Given the description of an element on the screen output the (x, y) to click on. 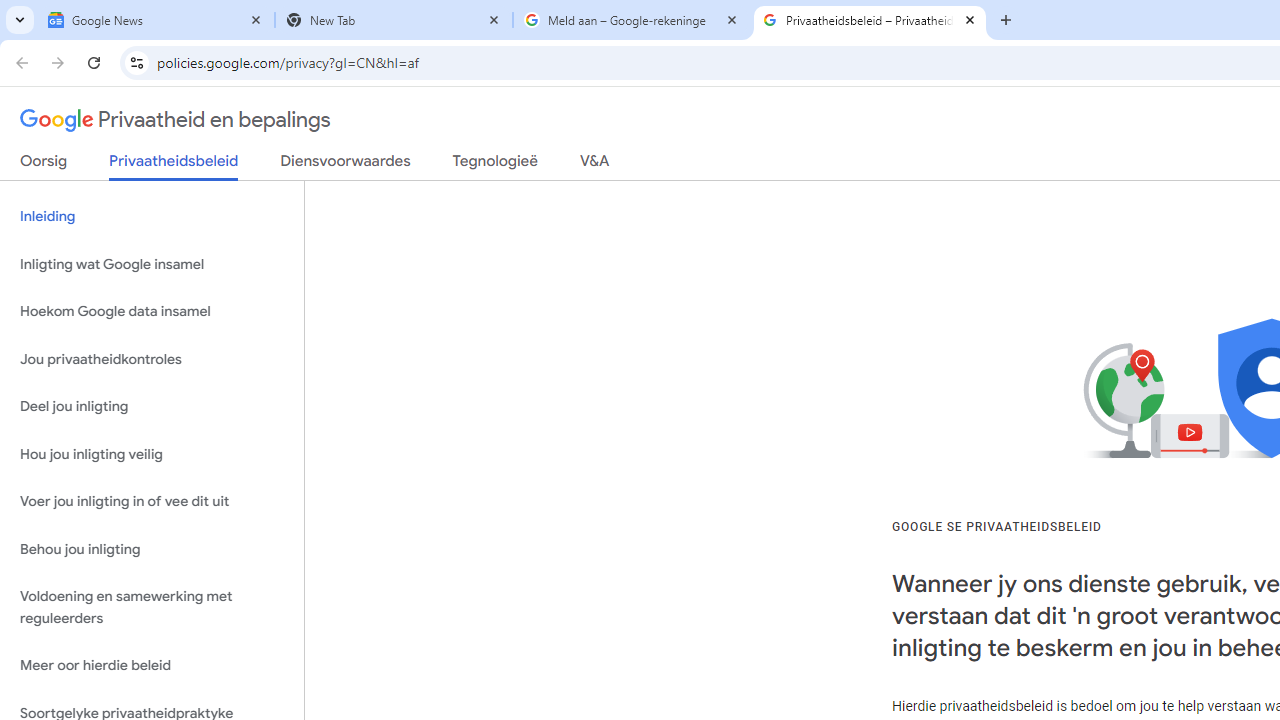
Hou jou inligting veilig (152, 453)
V&A (594, 165)
Voer jou inligting in of vee dit uit (152, 502)
Voldoening en samewerking met reguleerders (152, 607)
Deel jou inligting (152, 407)
Jou privaatheidkontroles (152, 358)
Diensvoorwaardes (345, 165)
Privaatheid en bepalings (175, 120)
New Tab (394, 20)
